Given the description of an element on the screen output the (x, y) to click on. 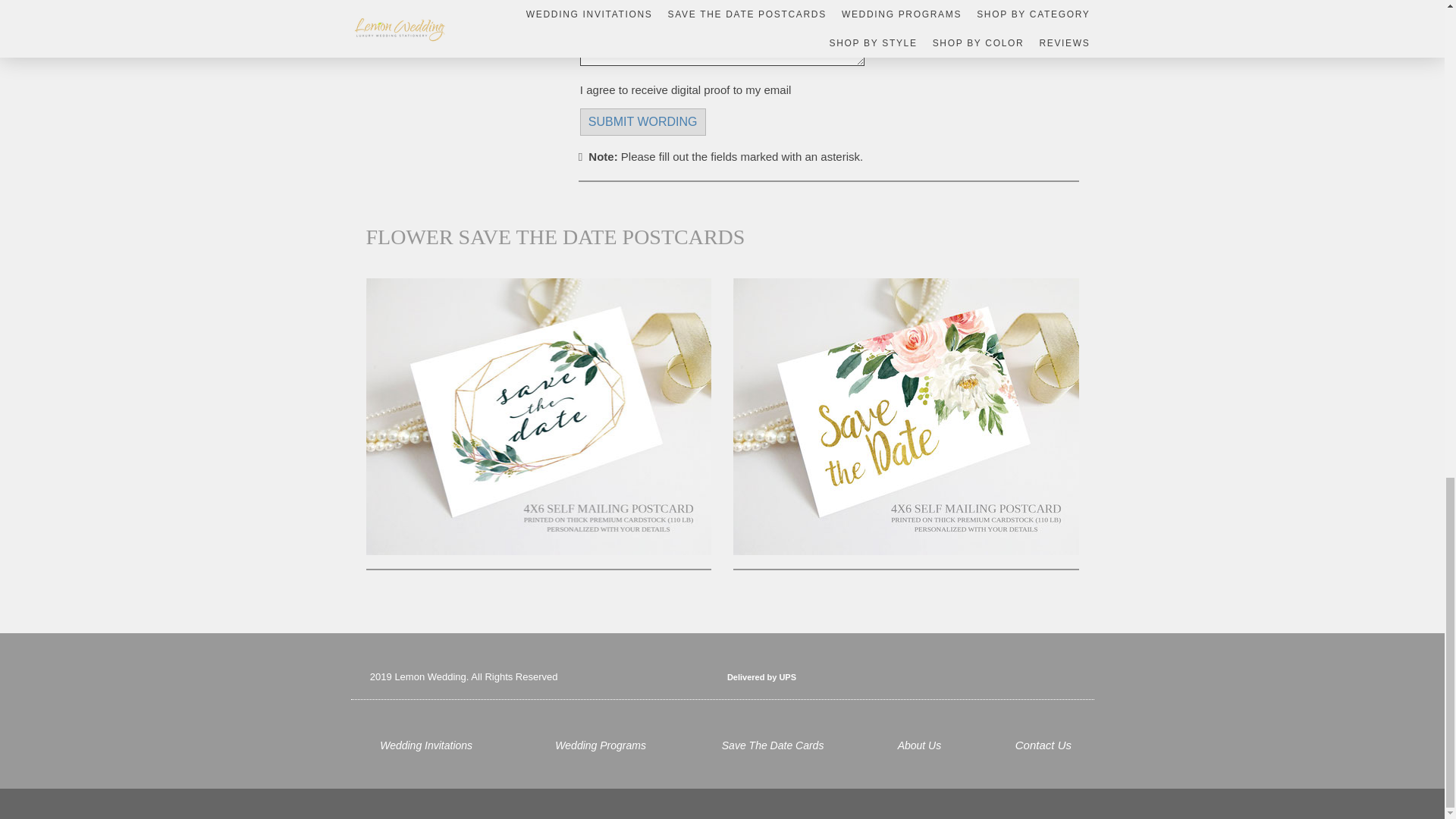
SUBMIT WORDING (642, 121)
Save the date cards (773, 745)
Wedding invitations (425, 744)
About (922, 745)
Contact Us (1042, 744)
Wedding programs (600, 745)
